Given the description of an element on the screen output the (x, y) to click on. 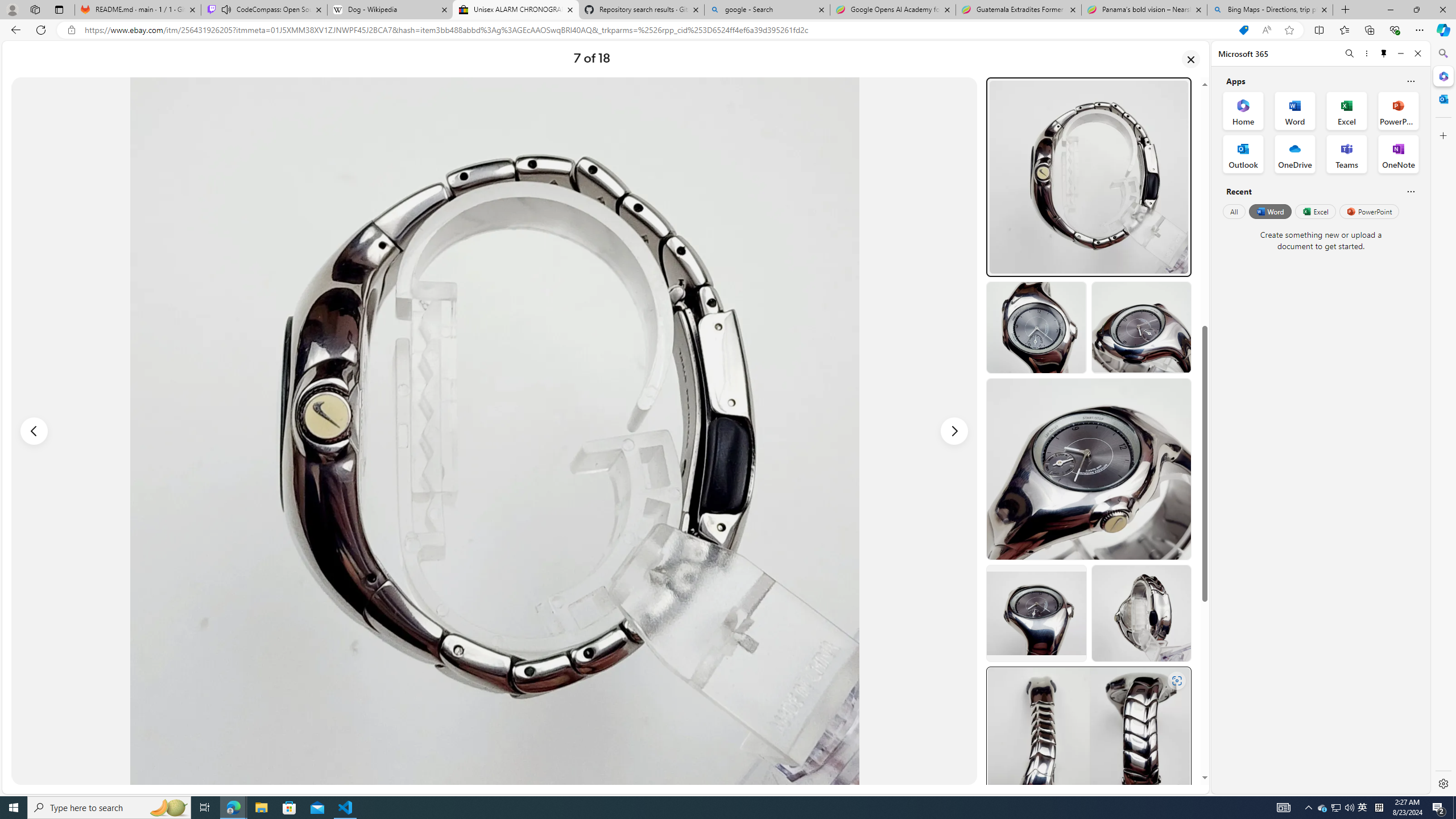
Word Office App (1295, 110)
Home Office App (1243, 110)
Excel Office App (1346, 110)
Word (1269, 210)
